Given the description of an element on the screen output the (x, y) to click on. 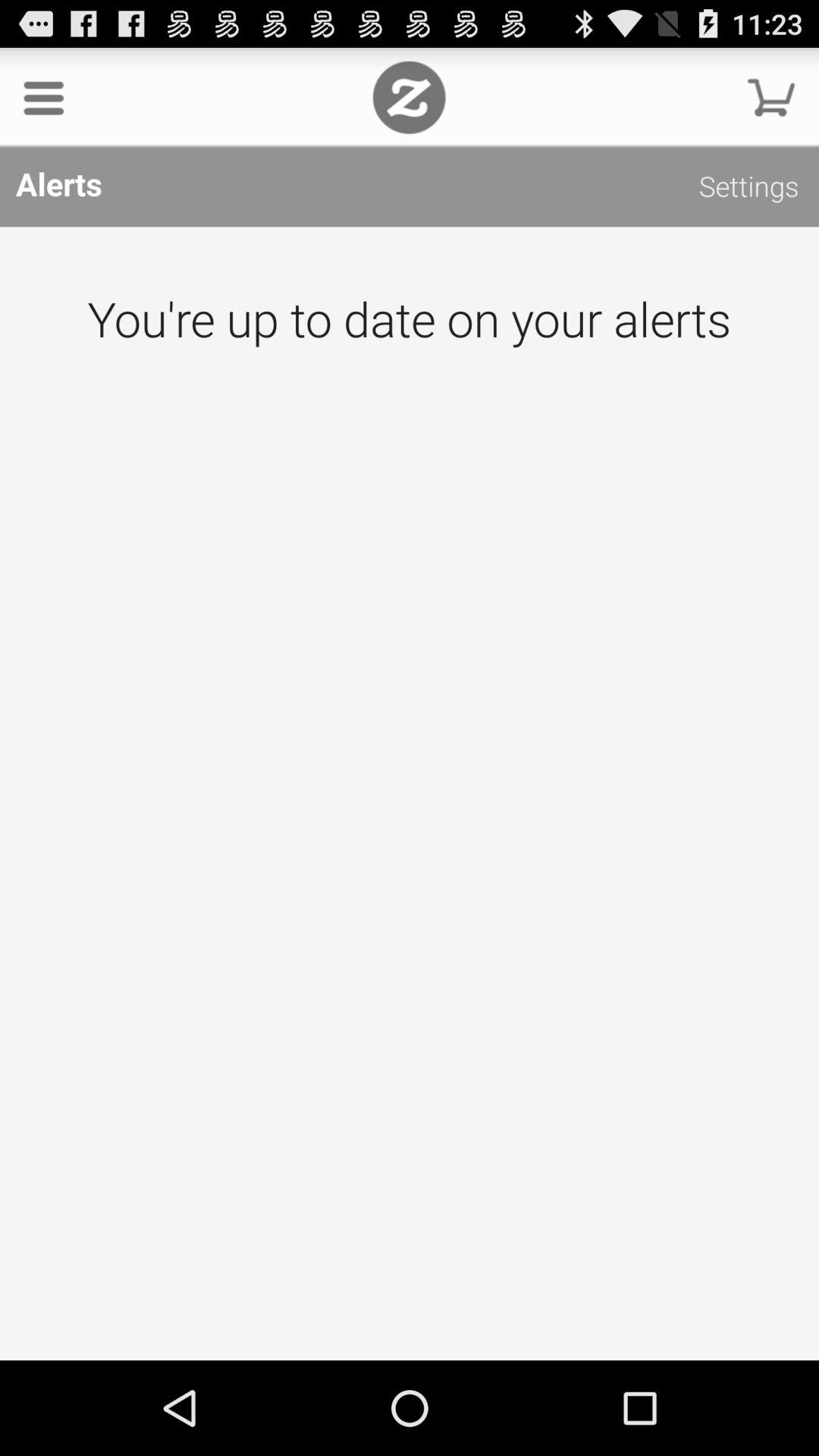
press the item above the alerts (43, 97)
